Given the description of an element on the screen output the (x, y) to click on. 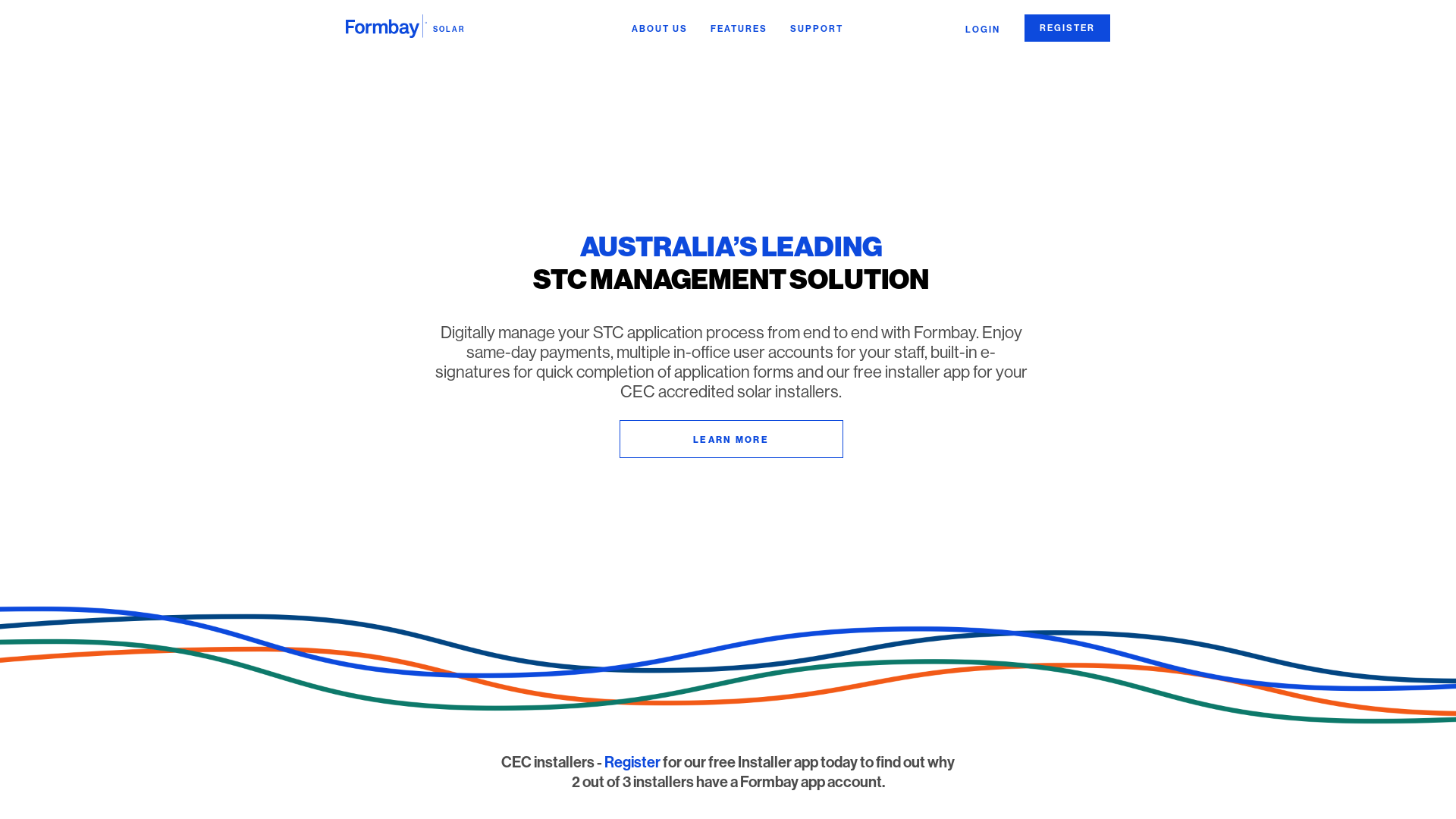
FEATURES Element type: text (738, 28)
Register Element type: text (632, 762)
SOLAR Element type: text (405, 26)
LOGIN Element type: text (982, 29)
ABOUT US Element type: text (659, 28)
REGISTER Element type: text (1067, 27)
LEARN MORE Element type: text (730, 439)
SUPPORT Element type: text (815, 28)
